Given the description of an element on the screen output the (x, y) to click on. 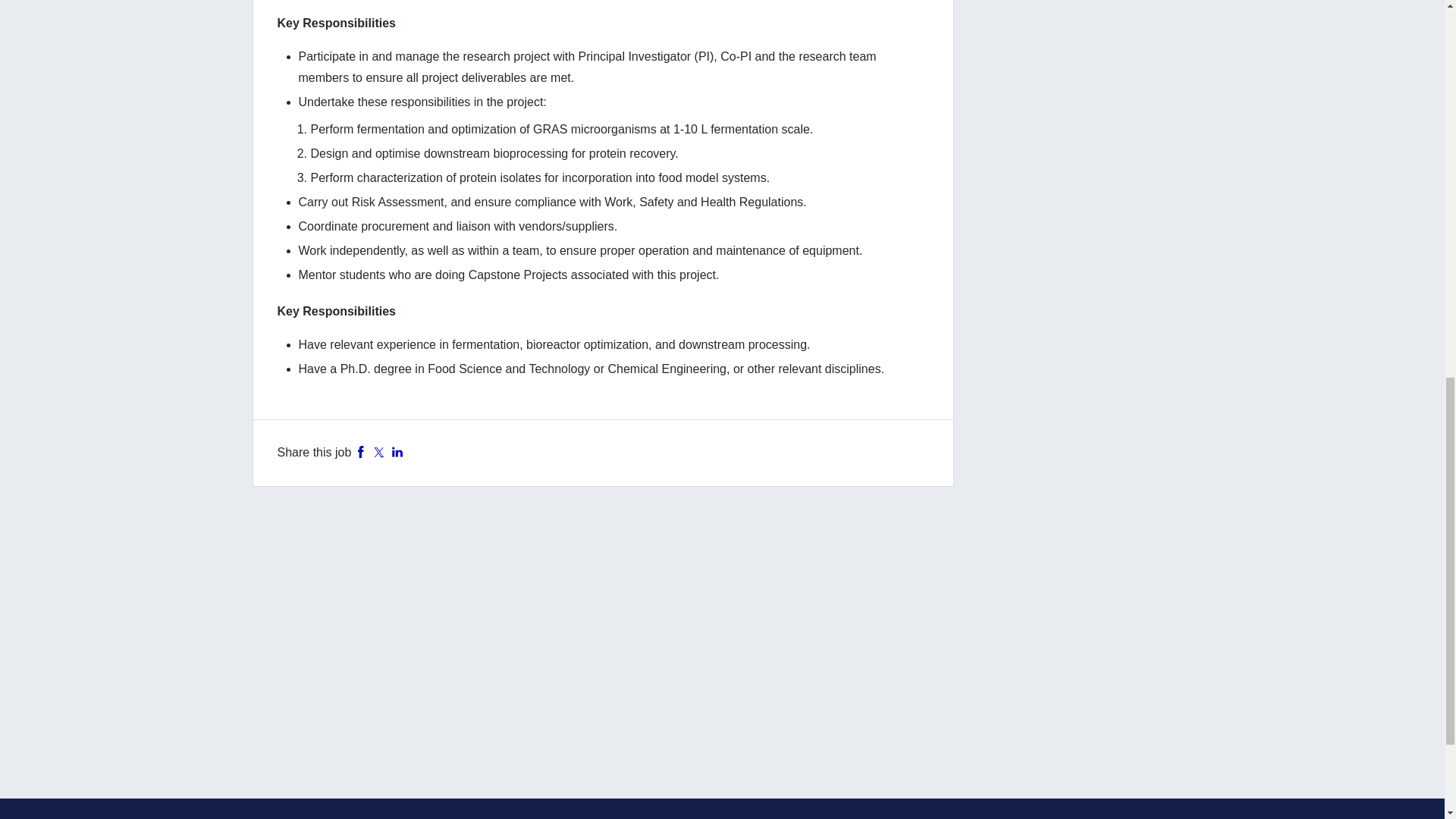
Facebook (360, 451)
